Given the description of an element on the screen output the (x, y) to click on. 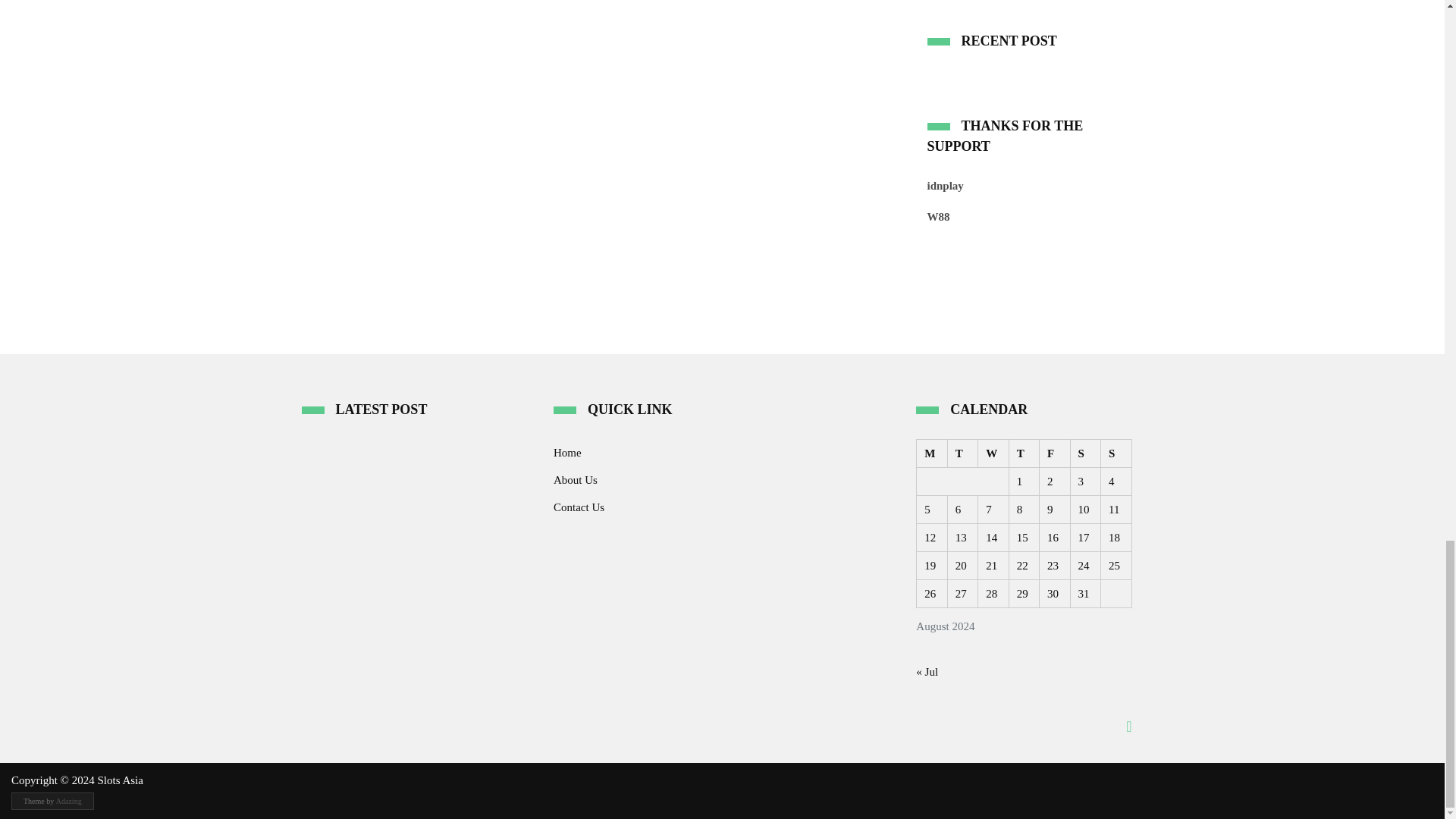
Tuesday (961, 452)
Monday (932, 452)
Thursday (1024, 452)
Wednesday (993, 452)
Friday (1054, 452)
Saturday (1085, 452)
Sunday (1115, 452)
